Given the description of an element on the screen output the (x, y) to click on. 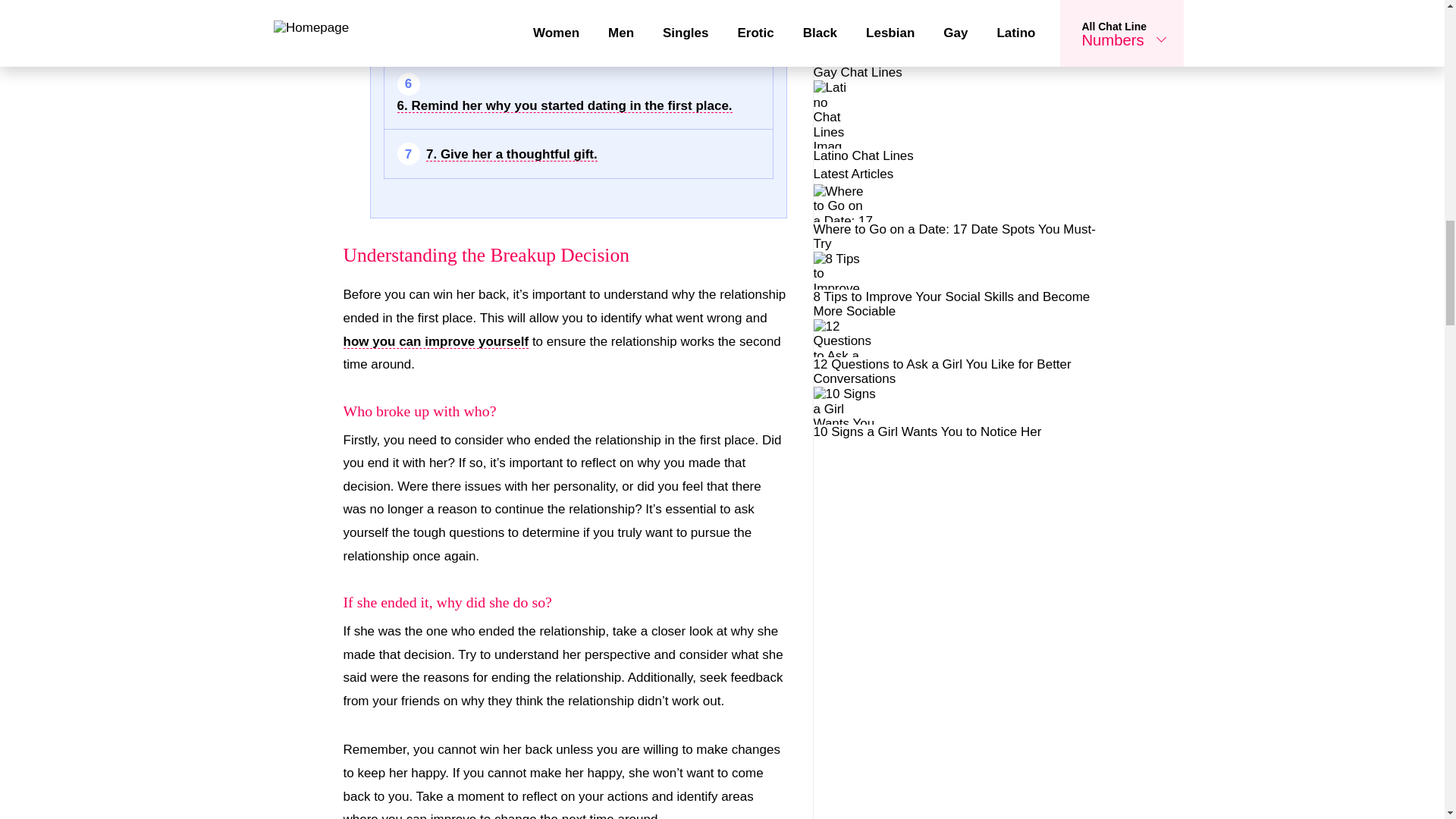
6. Remind her why you started dating in the first place. (564, 106)
7. Give her a thoughtful gift. (511, 154)
how you can improve yourself (435, 341)
5. Get to know each other again. (525, 34)
